Given the description of an element on the screen output the (x, y) to click on. 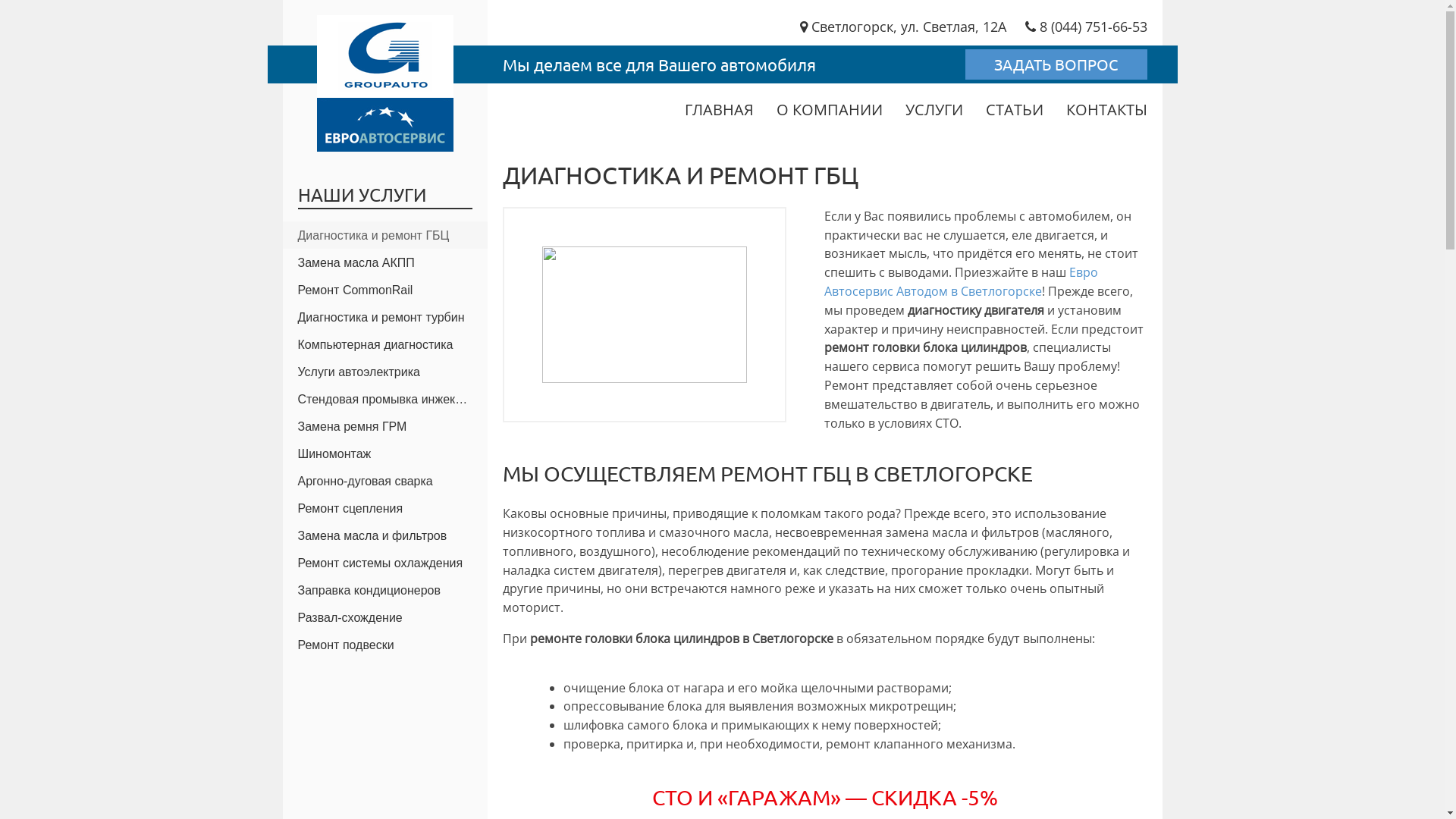
8 (044) 751-66-53 Element type: text (1086, 26)
